Given the description of an element on the screen output the (x, y) to click on. 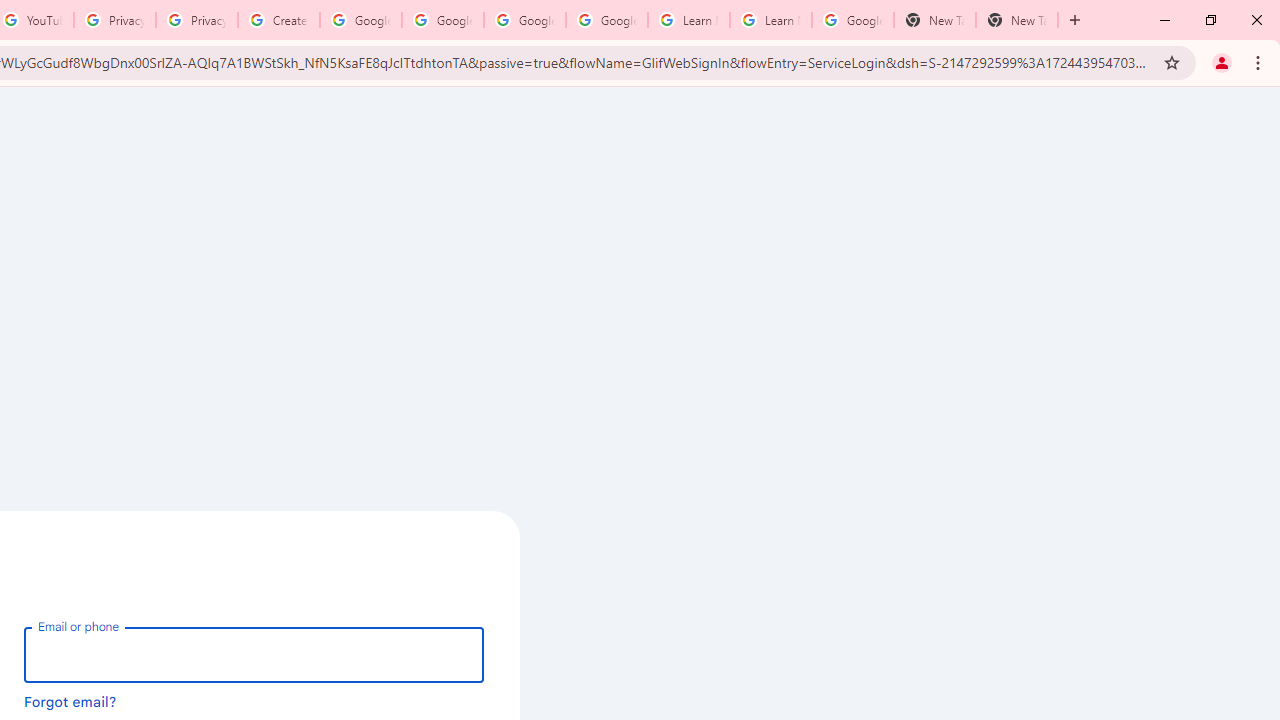
Google Account Help (360, 20)
Google Account (852, 20)
Google Account Help (442, 20)
Create your Google Account (278, 20)
Forgot email? (70, 701)
Google Account Help (524, 20)
Google Account Help (606, 20)
New Tab (934, 20)
